Given the description of an element on the screen output the (x, y) to click on. 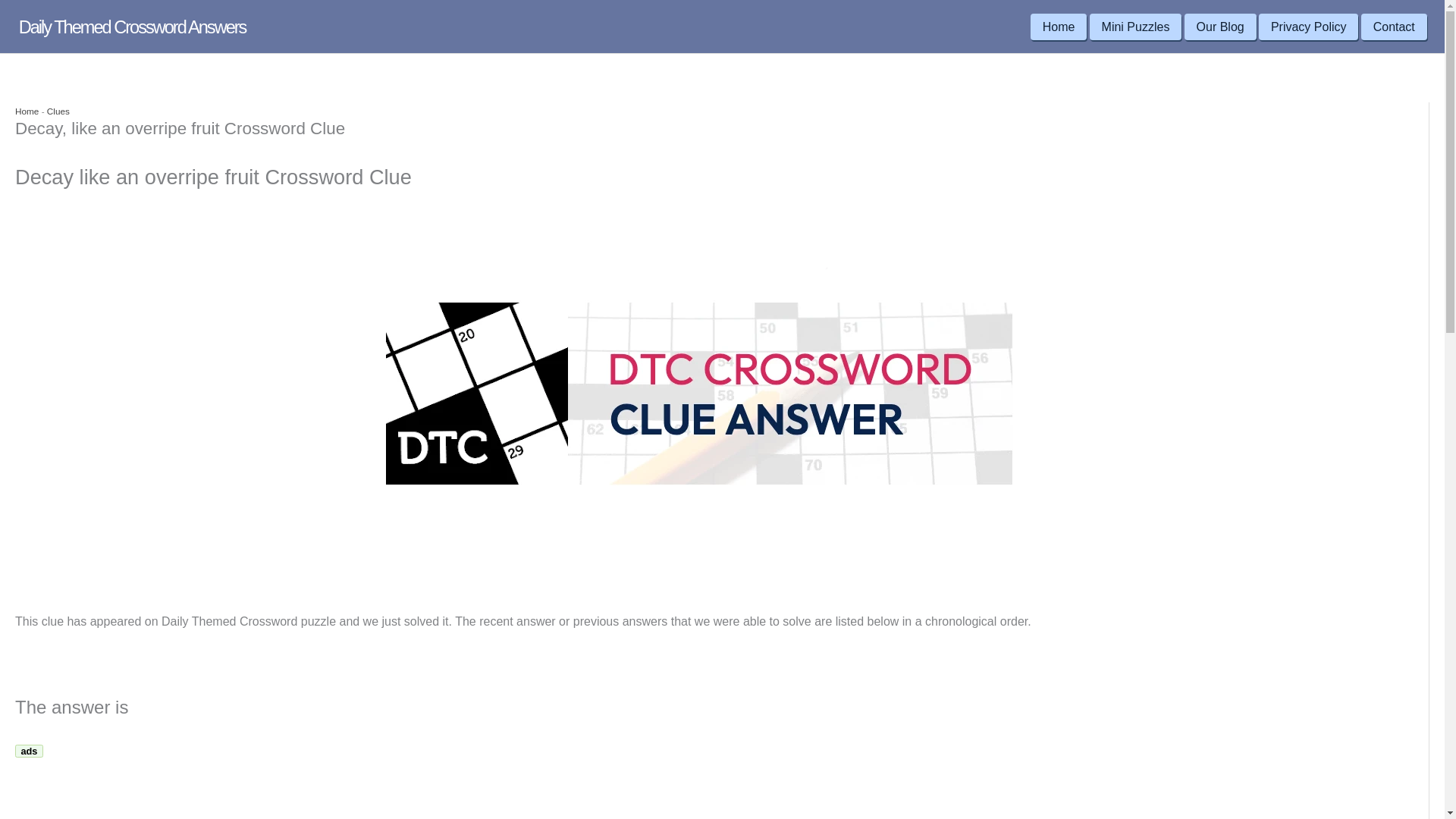
Home (26, 111)
Home (1058, 26)
Our Blog (1220, 26)
Privacy Policy (1308, 26)
Clues (57, 111)
Daily Themed Crossword Answers (131, 26)
Mini Puzzles (1135, 26)
Contact (1393, 26)
